Given the description of an element on the screen output the (x, y) to click on. 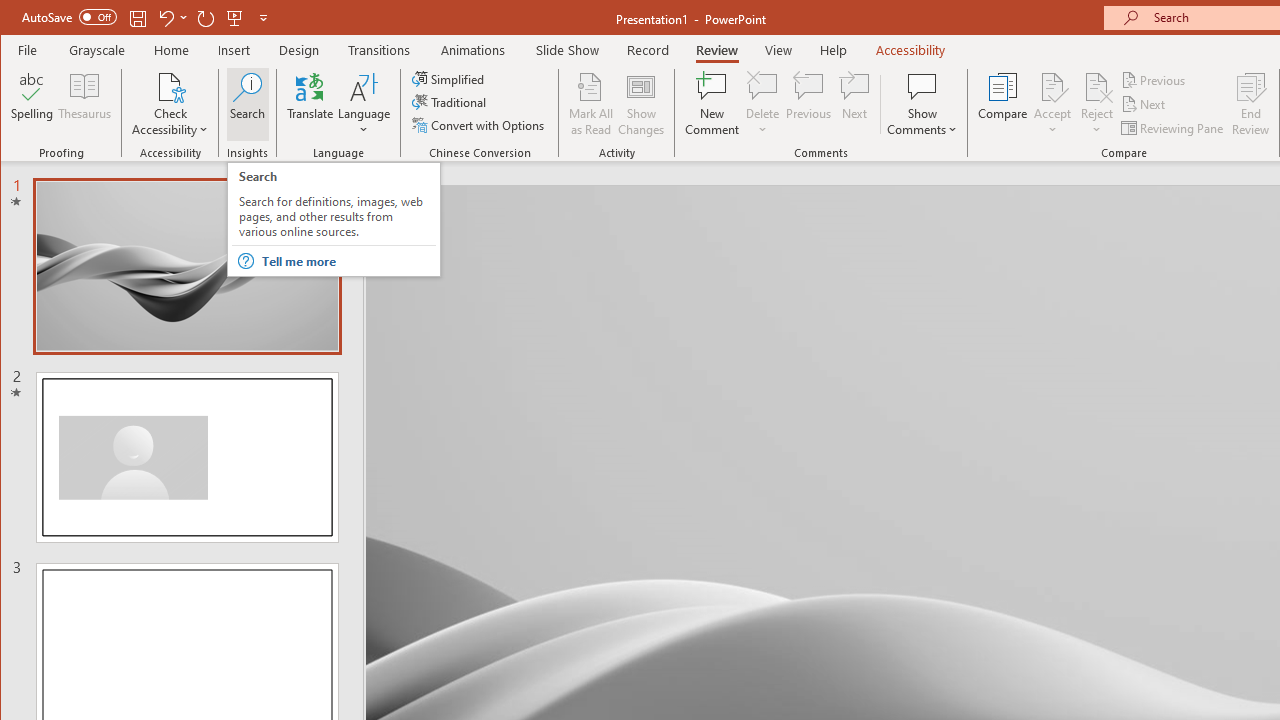
Reject (1096, 104)
Convert with Options... (479, 124)
Grayscale (97, 50)
Next (1144, 103)
End Review (1251, 104)
Simplified (450, 78)
